Given the description of an element on the screen output the (x, y) to click on. 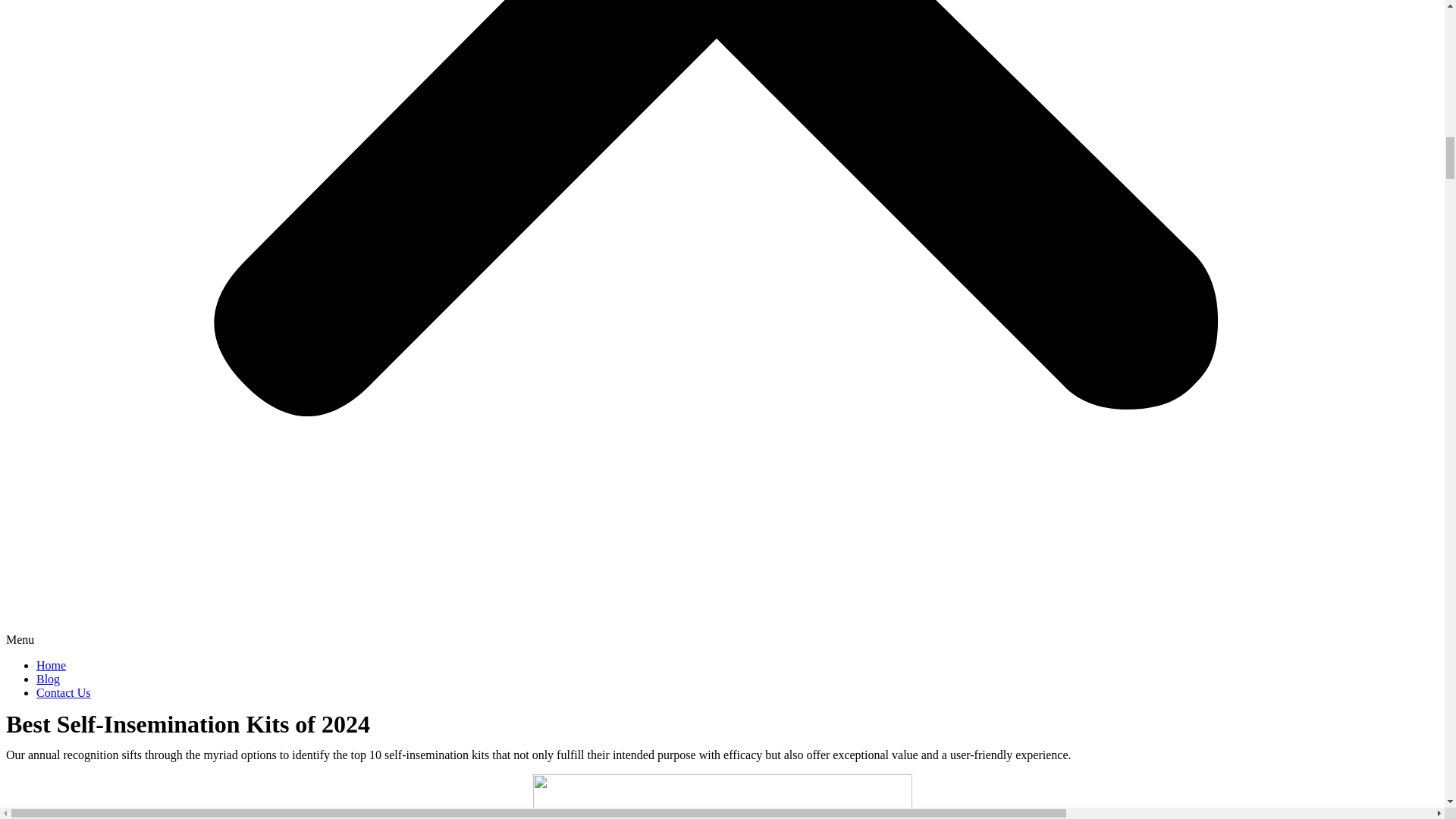
Home (50, 665)
Blog (47, 678)
Contact Us (63, 692)
